Given the description of an element on the screen output the (x, y) to click on. 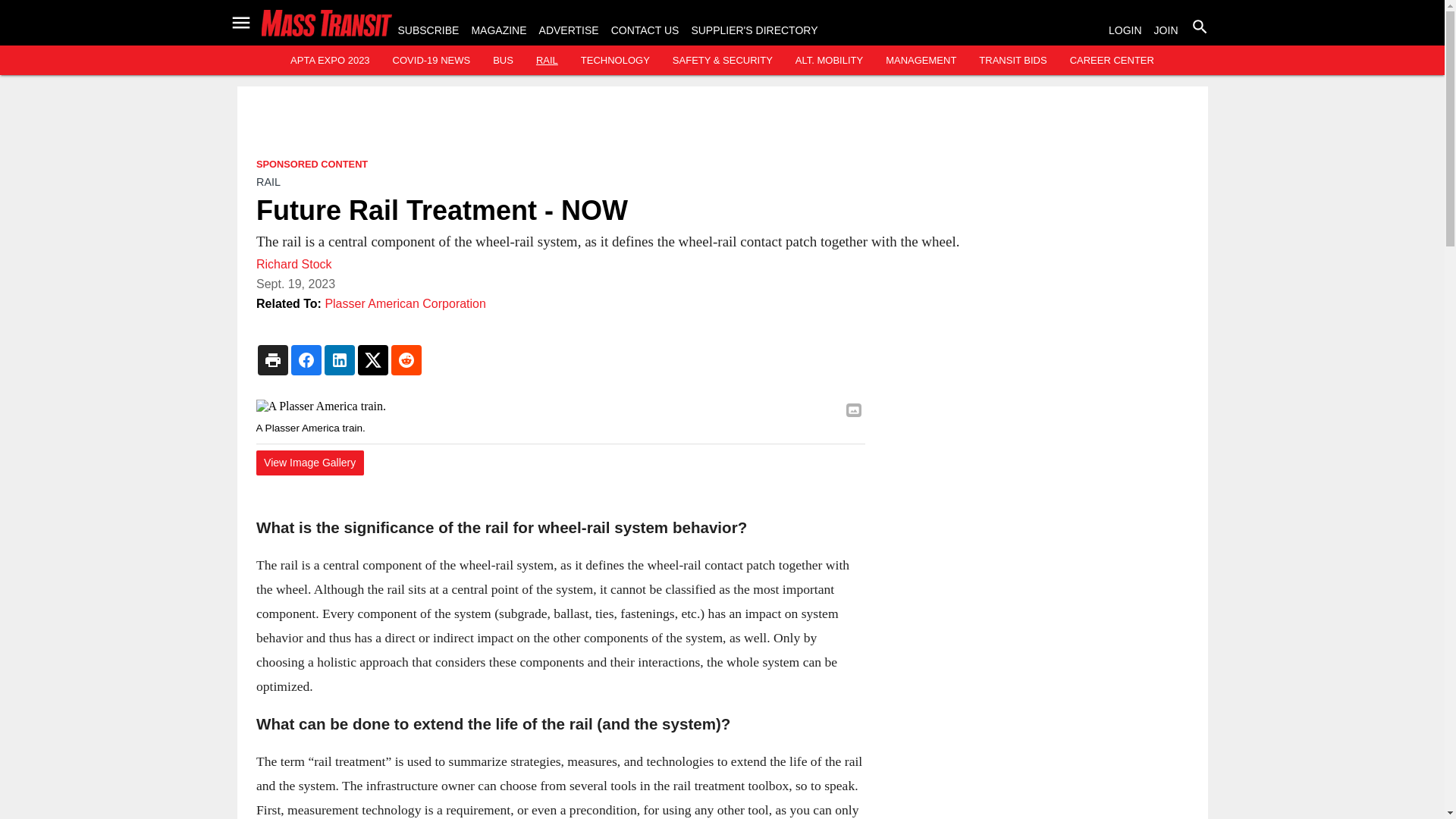
APTA EXPO 2023 (329, 60)
BUS (503, 60)
SUPPLIER'S DIRECTORY (753, 30)
COVID-19 NEWS (431, 60)
RAIL (546, 60)
A Plasser America train. (560, 406)
ADVERTISE (568, 30)
MANAGEMENT (920, 60)
LOGIN (1124, 30)
MAGAZINE (497, 30)
